Given the description of an element on the screen output the (x, y) to click on. 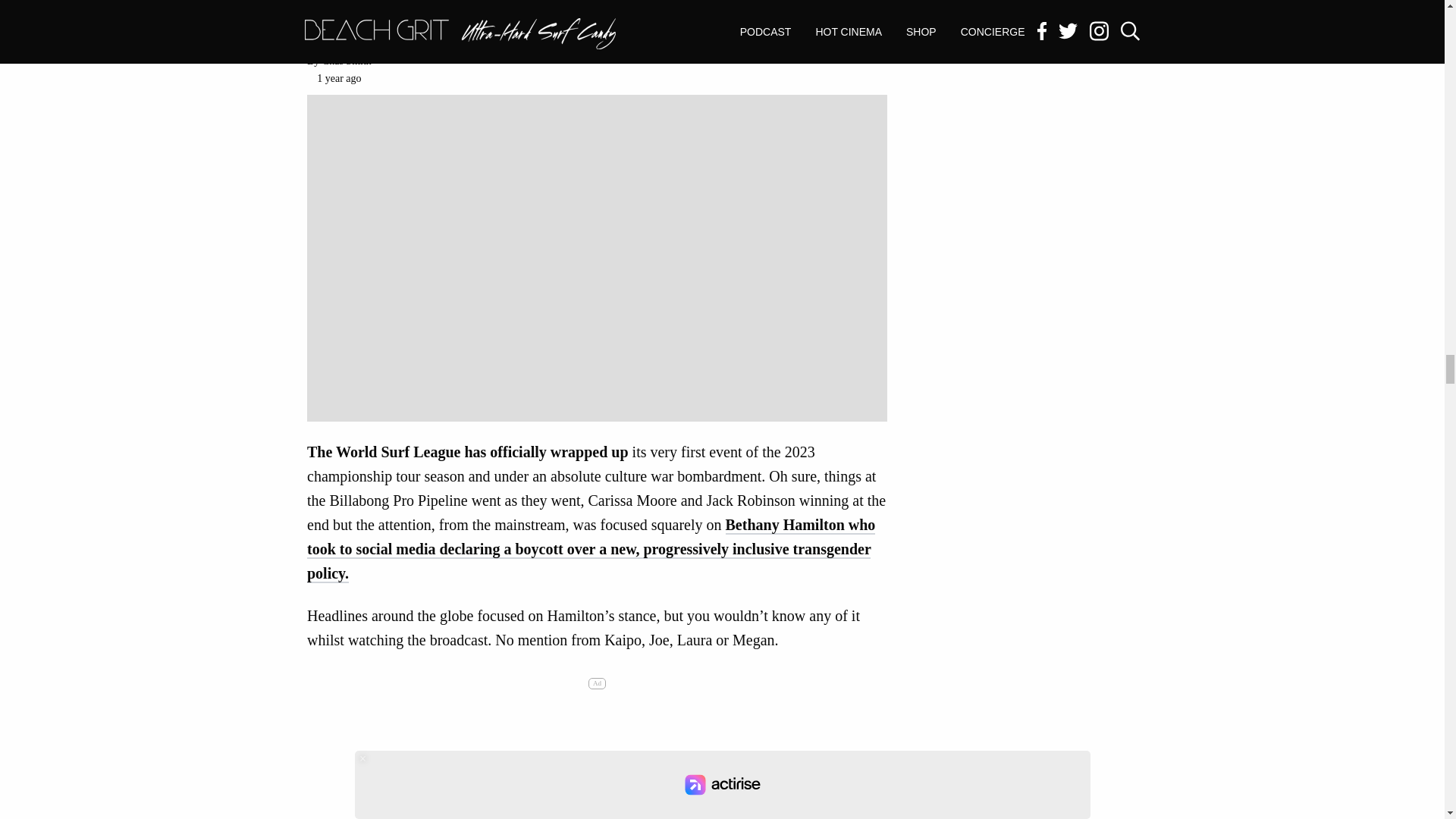
Chas Smith (346, 60)
